Given the description of an element on the screen output the (x, y) to click on. 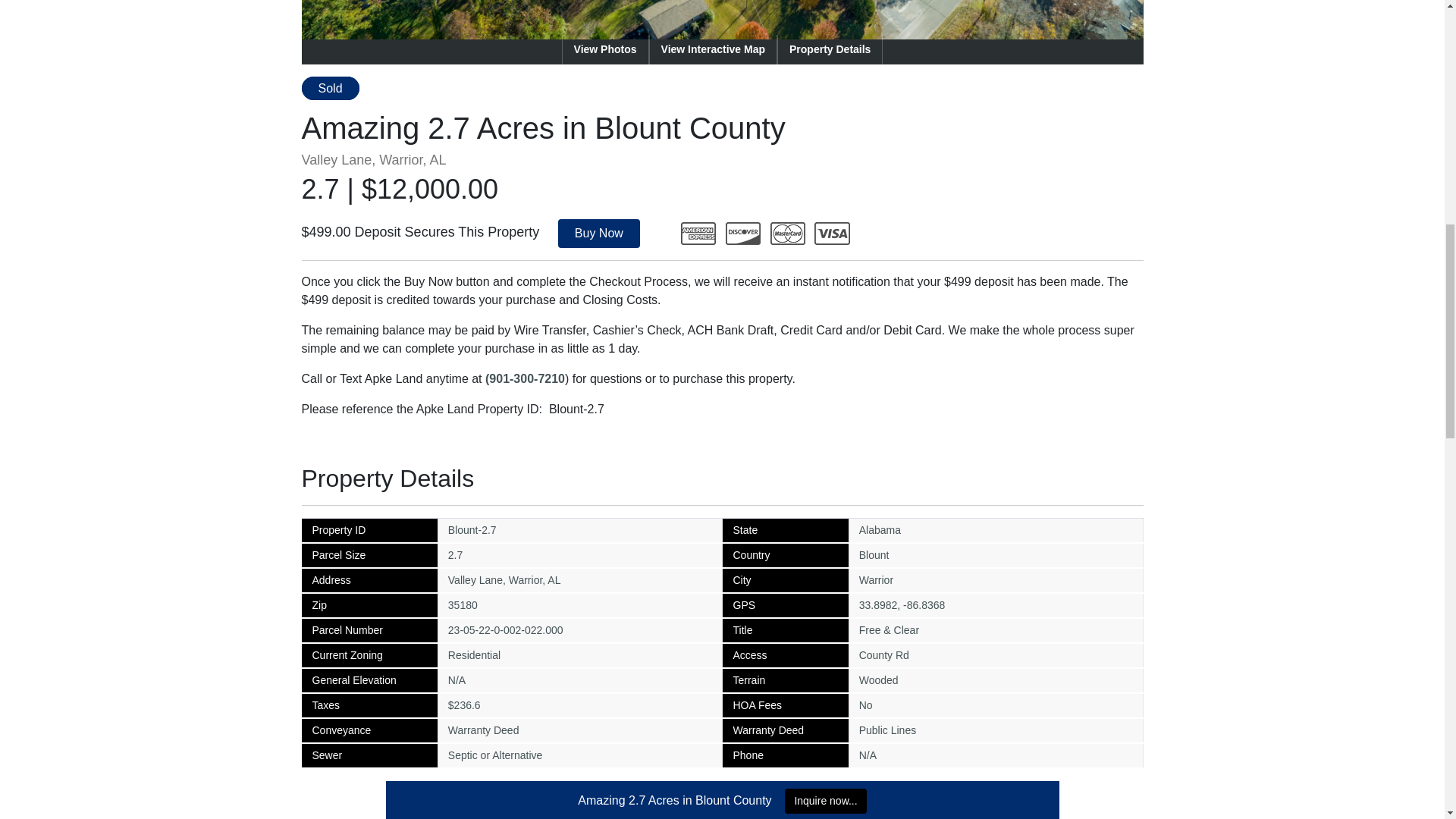
View Photos (605, 49)
Buy Now (598, 233)
Property Details (829, 49)
Inquire now... (825, 801)
Sold (330, 87)
View Interactive Map (713, 49)
